Given the description of an element on the screen output the (x, y) to click on. 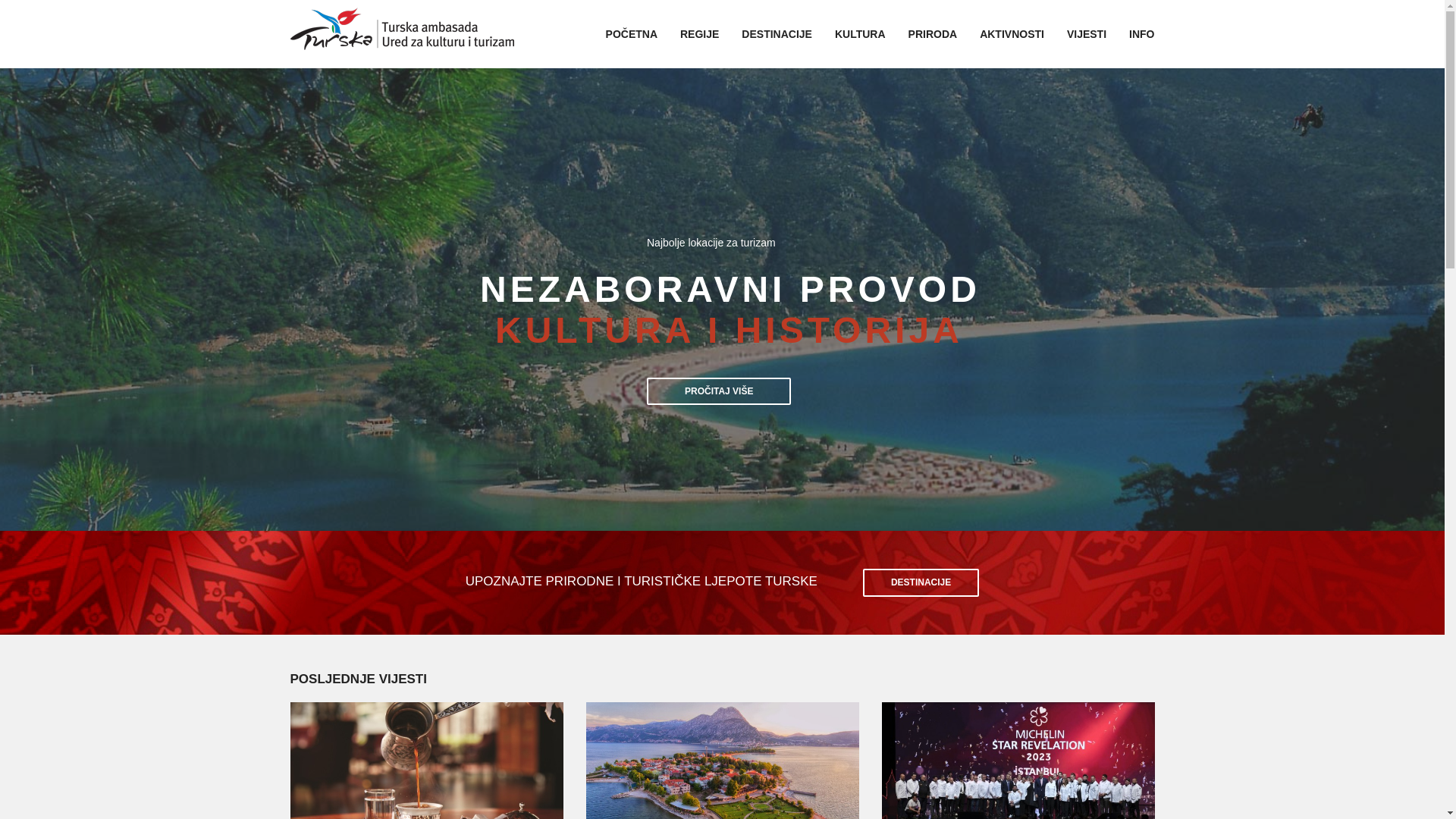
REGIJE Element type: text (699, 34)
PRIRODA Element type: text (933, 34)
DESTINACIJE Element type: text (776, 34)
DESTINACIJE Element type: text (920, 582)
INFO Element type: text (1141, 34)
VIJESTI Element type: text (1086, 34)
AKTIVNOSTI Element type: text (1011, 34)
KULTURA Element type: text (860, 34)
DESTINACIJE Element type: text (440, 394)
